Given the description of an element on the screen output the (x, y) to click on. 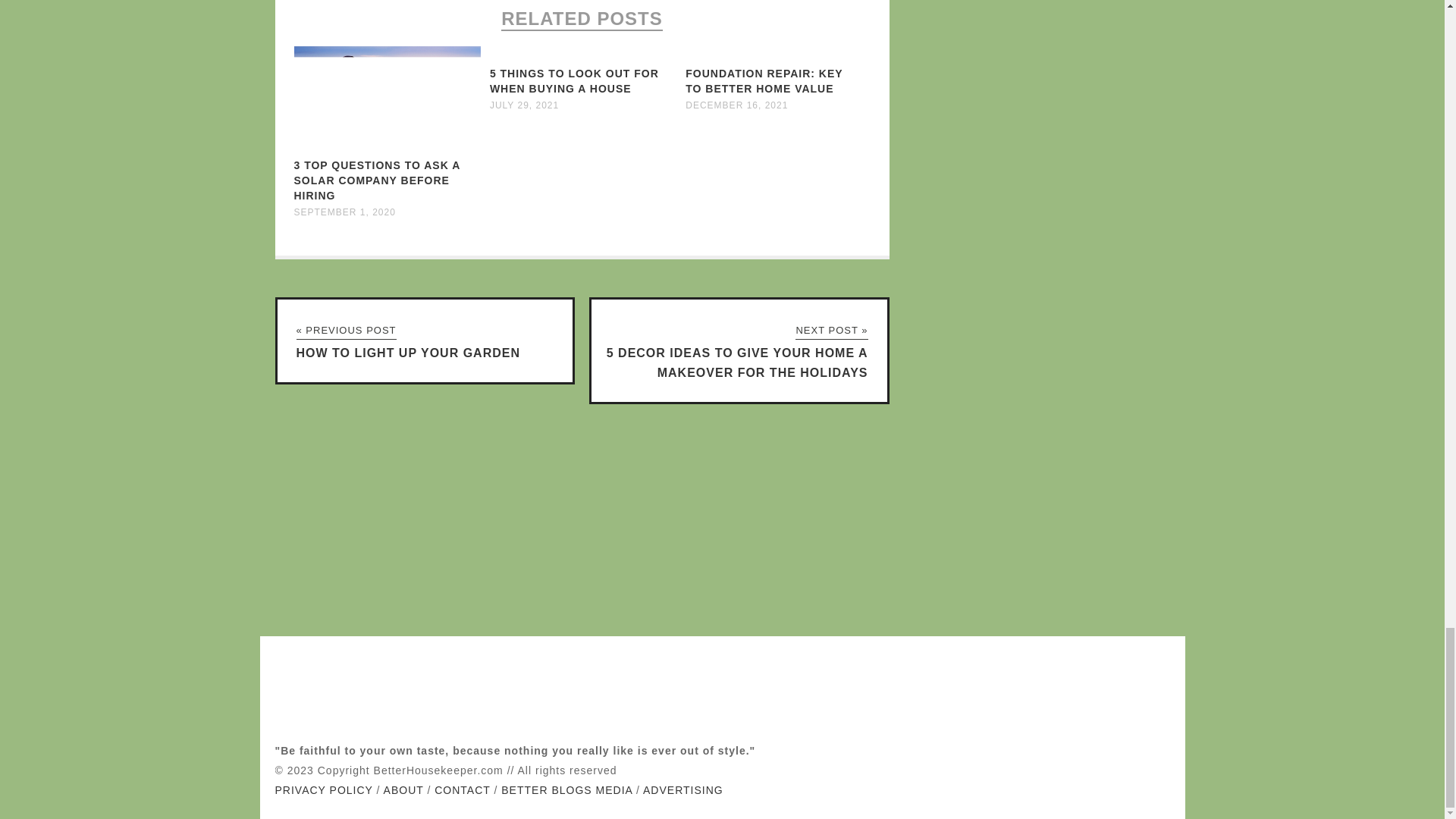
3 TOP QUESTIONS TO ASK A SOLAR COMPANY BEFORE HIRING (377, 179)
SEPTEMBER 1, 2020 (345, 212)
